Given the description of an element on the screen output the (x, y) to click on. 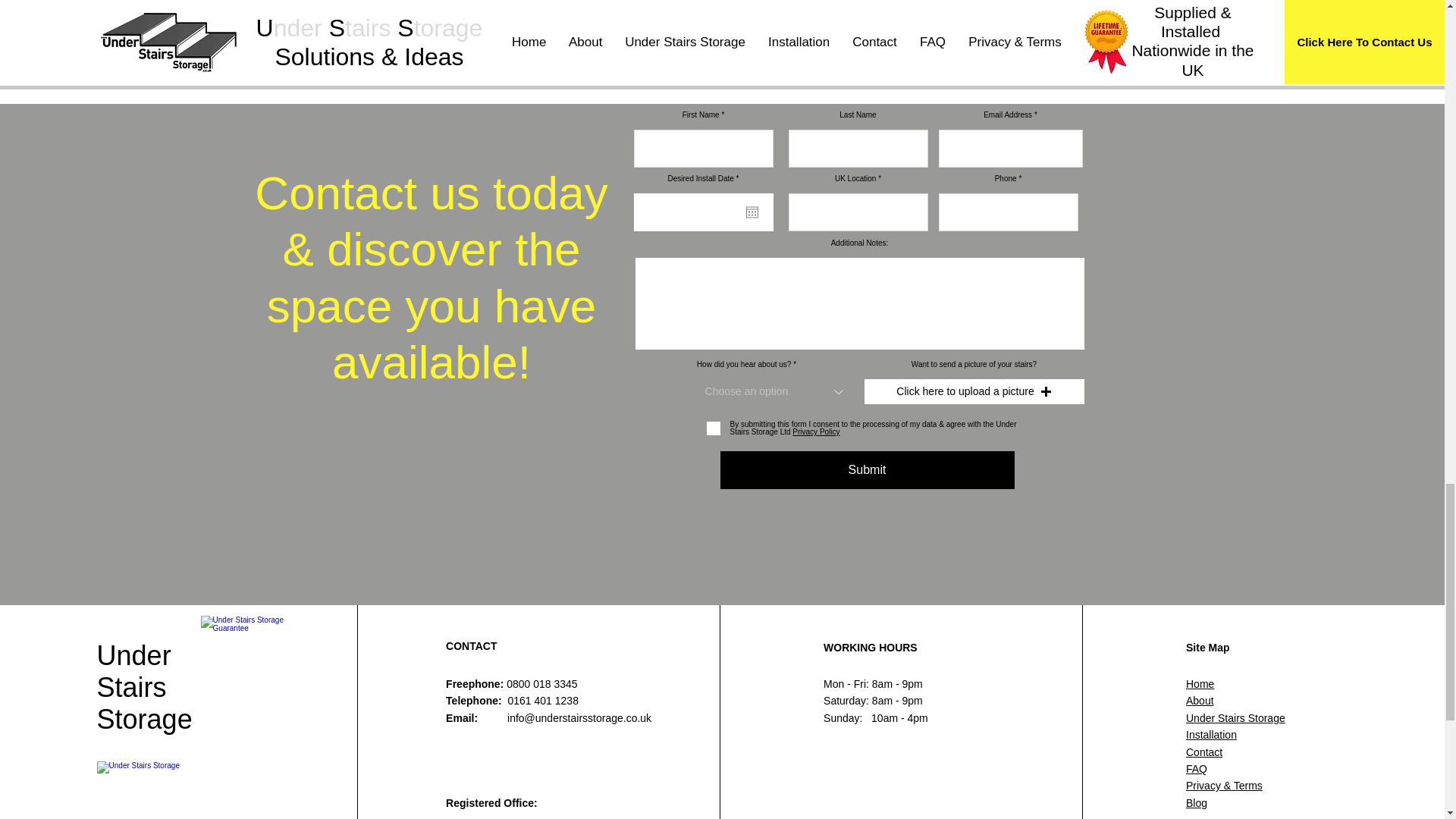
About (1200, 700)
Home (1200, 684)
Privacy Policy (815, 431)
Submit (867, 469)
Under Stairs Storage Solutions and Ideas (175, 790)
